Given the description of an element on the screen output the (x, y) to click on. 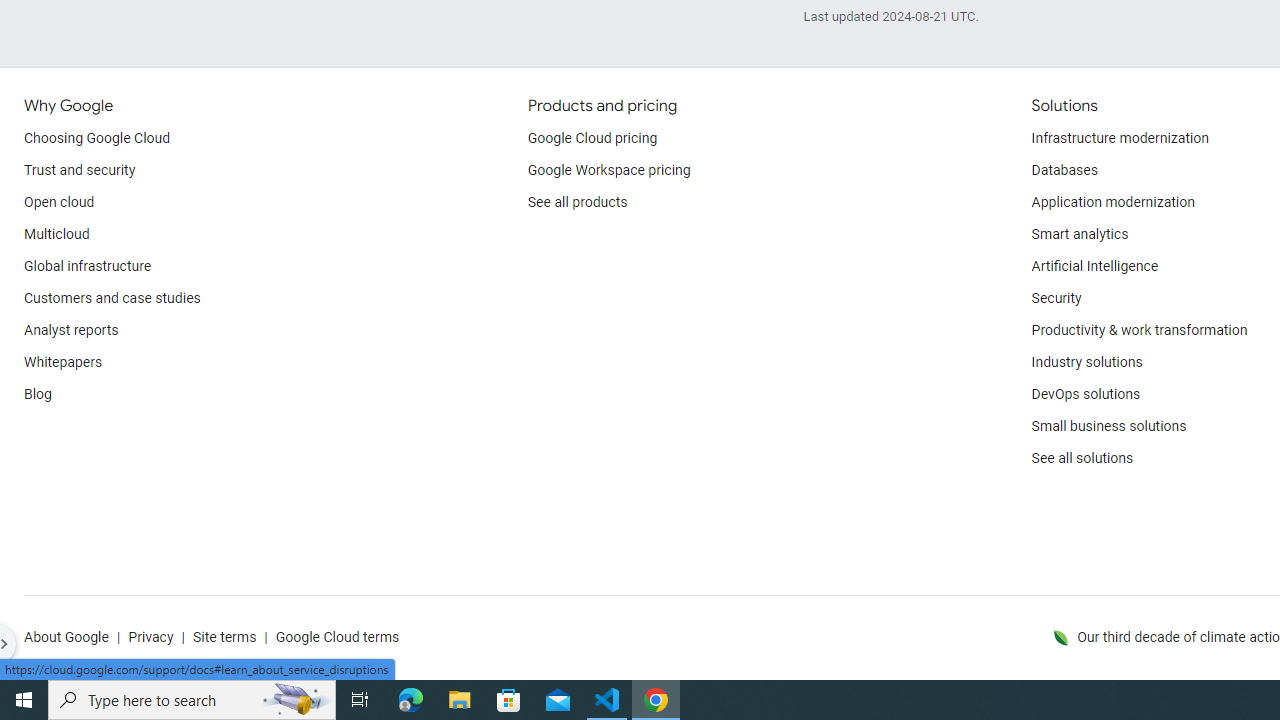
DevOps solutions (1085, 394)
Application modernization (1112, 202)
Industry solutions (1086, 362)
Google Cloud terms (337, 637)
Blog (38, 394)
Multicloud (56, 234)
Google Cloud pricing (592, 138)
See all products (577, 202)
Artificial Intelligence (1094, 266)
Analyst reports (71, 331)
Small business solutions (1108, 426)
Global infrastructure (88, 266)
